Given the description of an element on the screen output the (x, y) to click on. 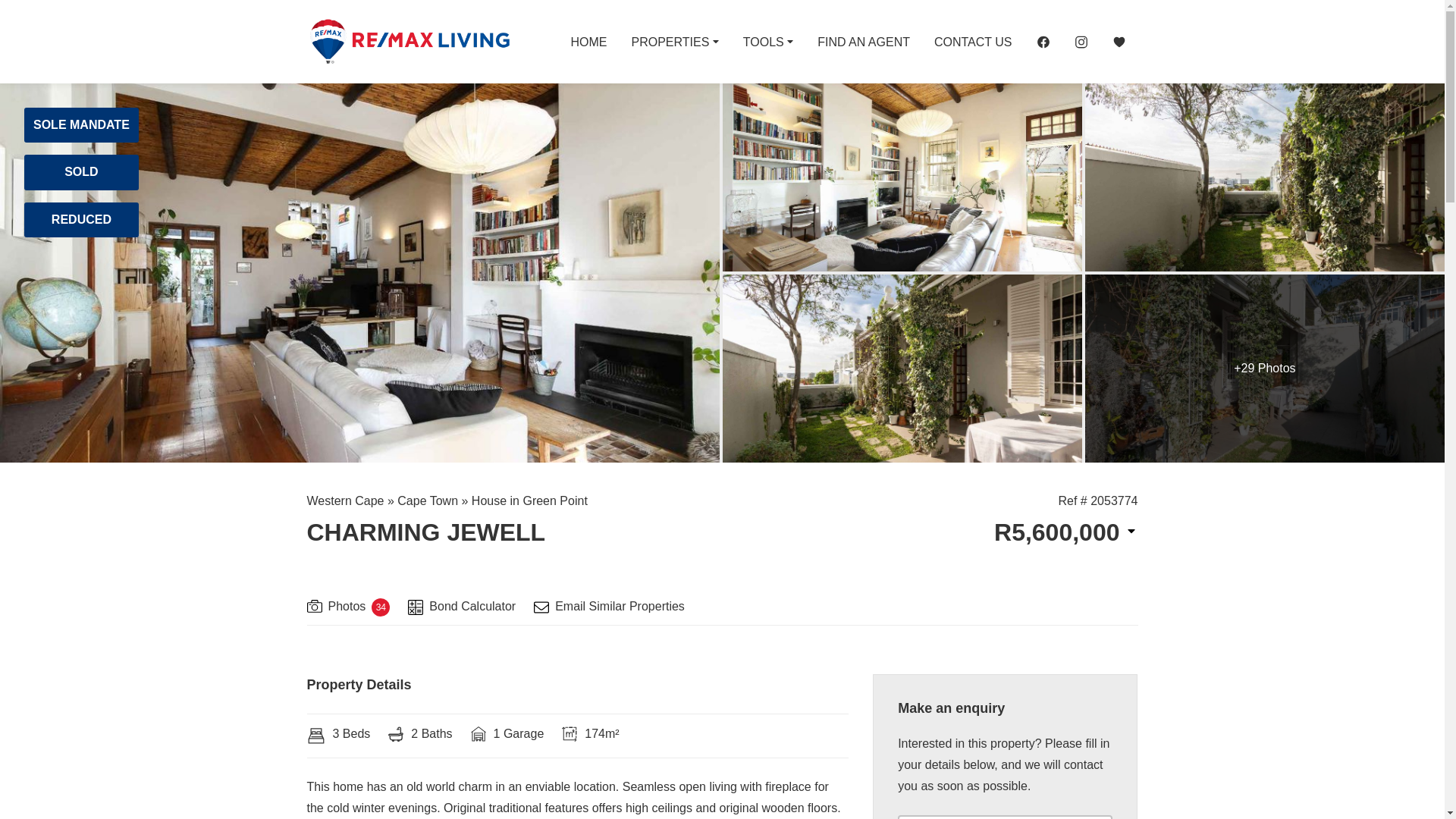
Property for sale and to rent Cape Town (408, 41)
Facebook (1042, 41)
FACEBOOK (1042, 41)
HOME (587, 41)
FAVOURITES (1118, 41)
FIND AN AGENT (863, 41)
INSTAGRAM (1080, 41)
CONTACT US (973, 41)
Email Similar Properties (609, 608)
Currency converter (1065, 532)
Cape Town (427, 501)
Western Cape (344, 501)
Favourites (1118, 41)
Instagram (1080, 41)
House in Green Point (529, 501)
